Given the description of an element on the screen output the (x, y) to click on. 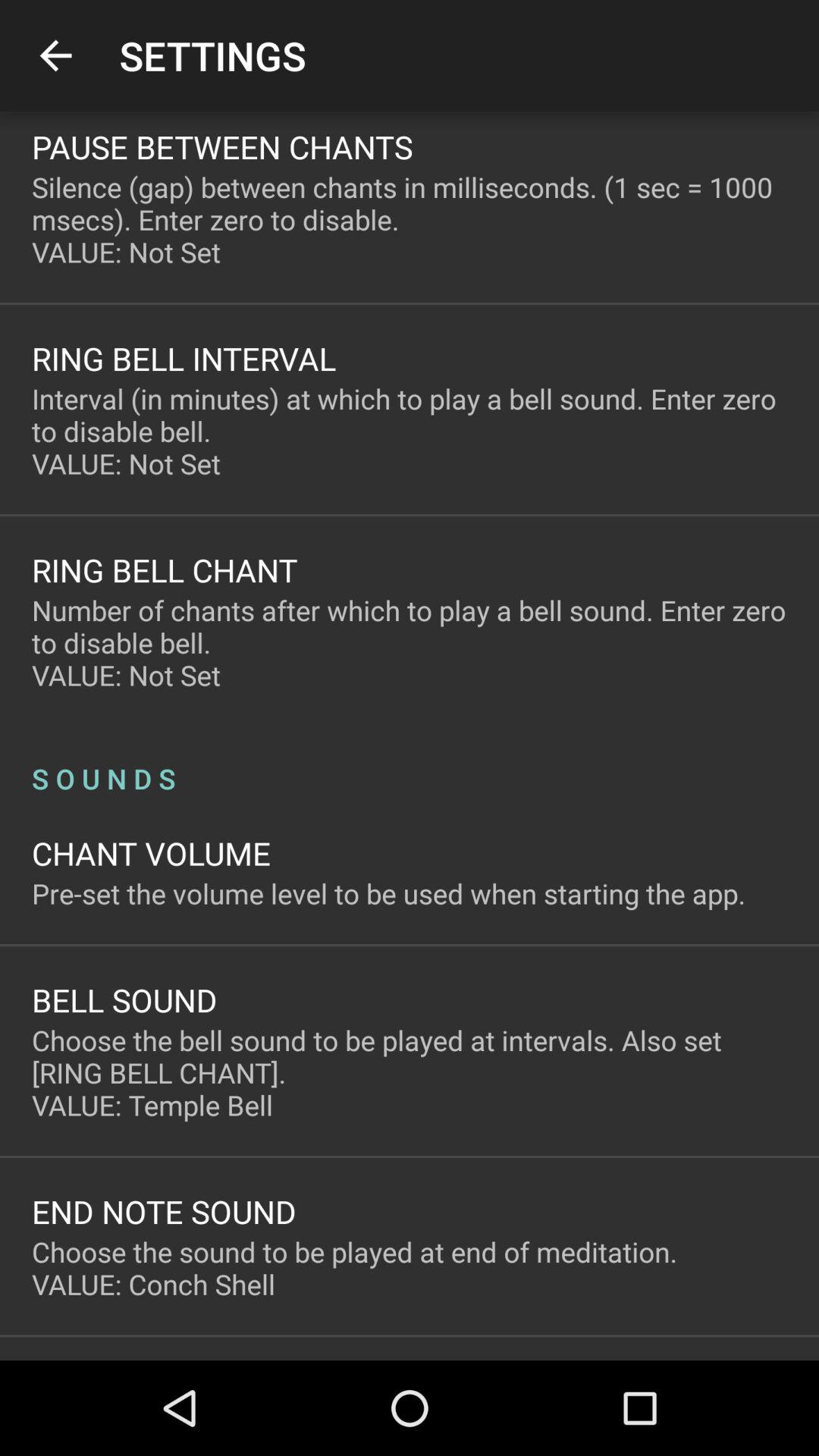
choose the icon below the number of chants item (409, 762)
